Given the description of an element on the screen output the (x, y) to click on. 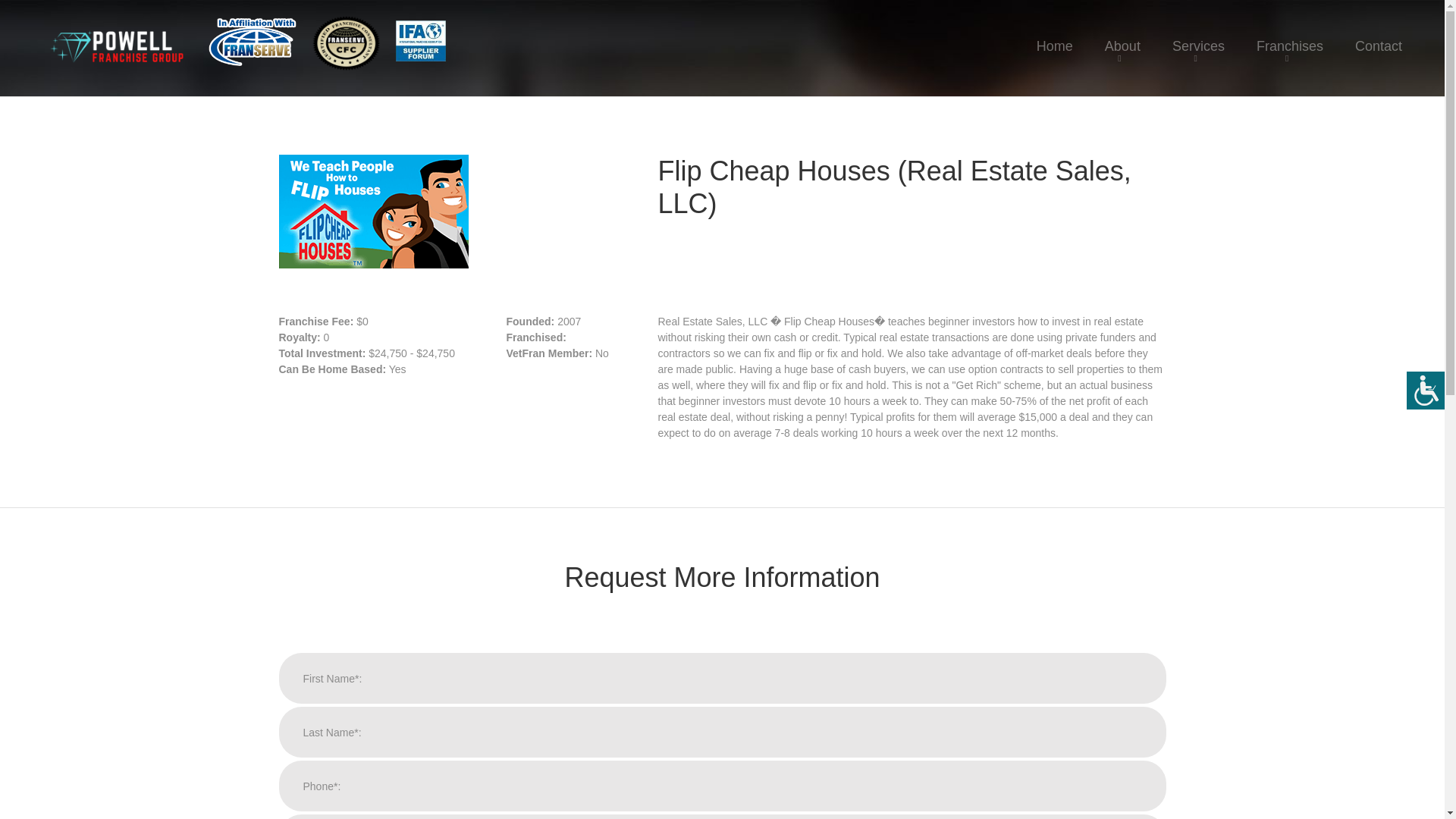
Home (1054, 36)
Services (1198, 36)
Contact (1378, 36)
About (1122, 36)
Franchises (1289, 36)
